Given the description of an element on the screen output the (x, y) to click on. 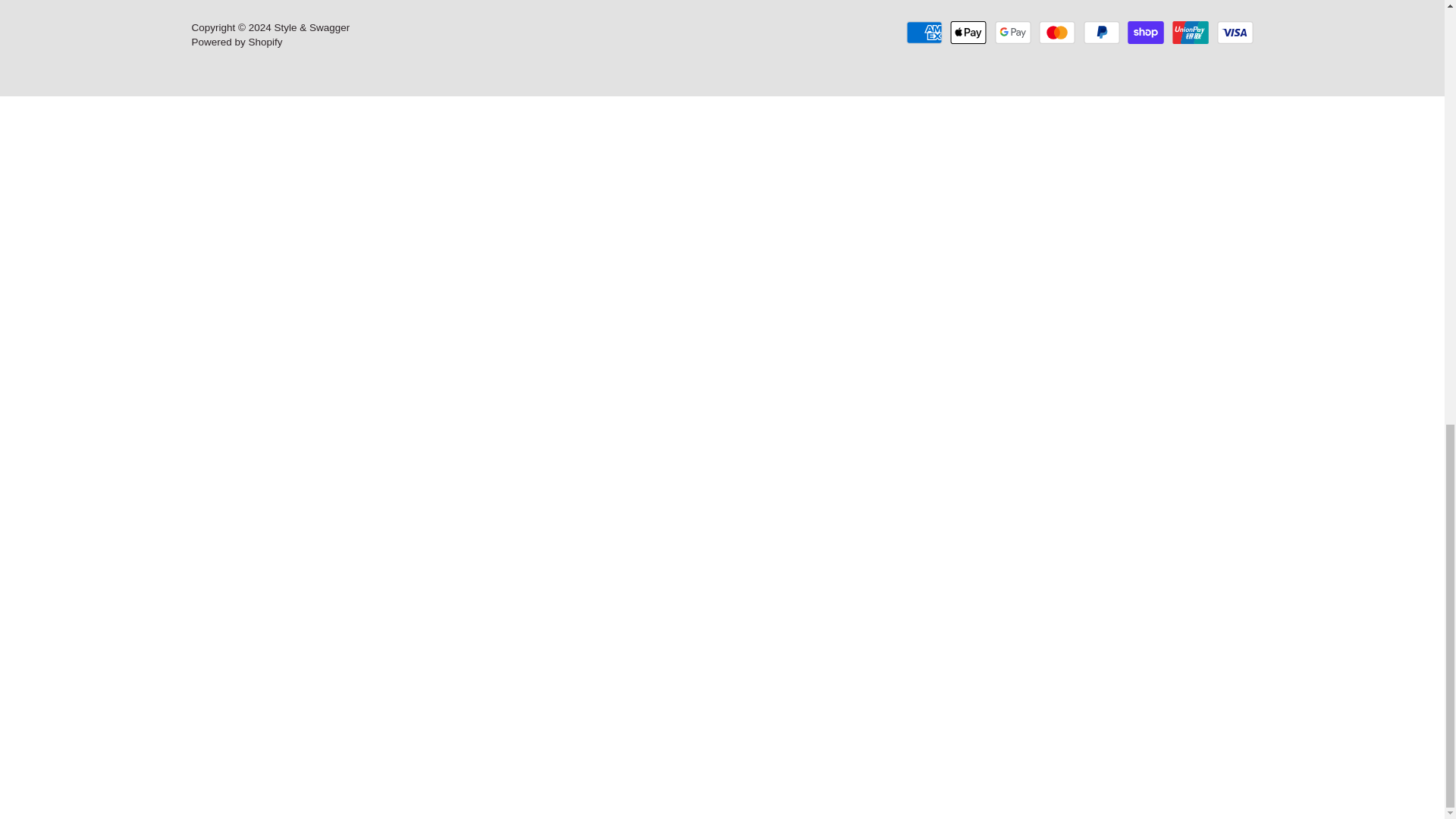
Apple Pay (968, 32)
American Express (923, 32)
Visa (1233, 32)
Google Pay (1012, 32)
Mastercard (1057, 32)
Union Pay (1190, 32)
PayPal (1101, 32)
Shop Pay (1144, 32)
